Given the description of an element on the screen output the (x, y) to click on. 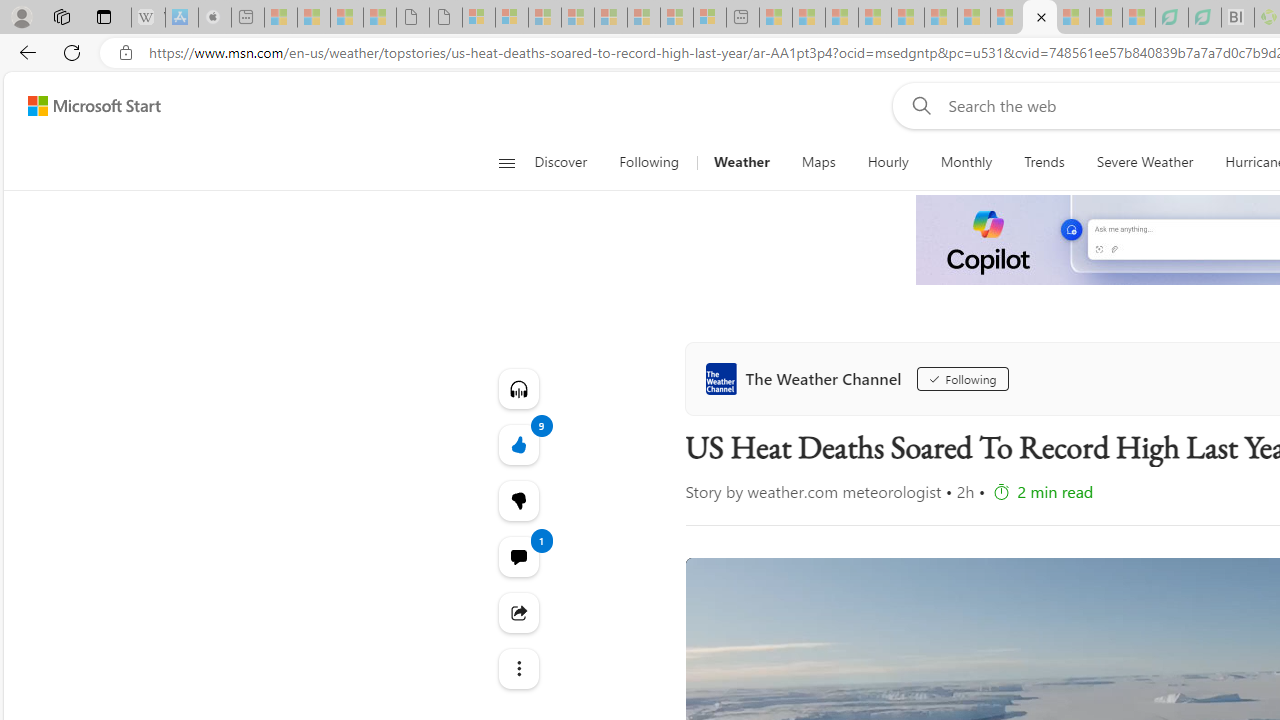
Monthly (966, 162)
Microsoft Services Agreement - Sleeping (511, 17)
Severe Weather (1144, 162)
9 Like (517, 444)
Skip to content (86, 105)
US Heat Deaths Soared To Record High Last Year (1039, 17)
Class: at-item (517, 668)
Hourly (888, 162)
9 (517, 500)
Listen to this article (517, 388)
